Given the description of an element on the screen output the (x, y) to click on. 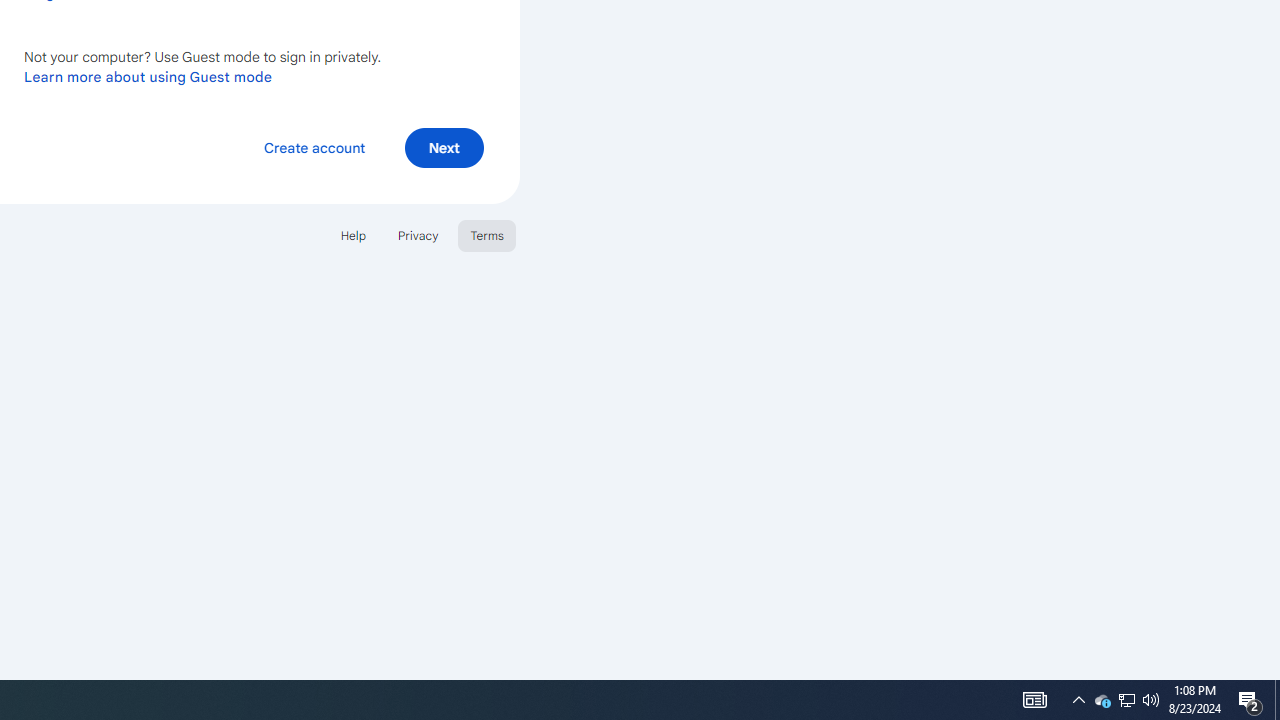
Create account (314, 146)
Learn more about using Guest mode (148, 76)
